Given the description of an element on the screen output the (x, y) to click on. 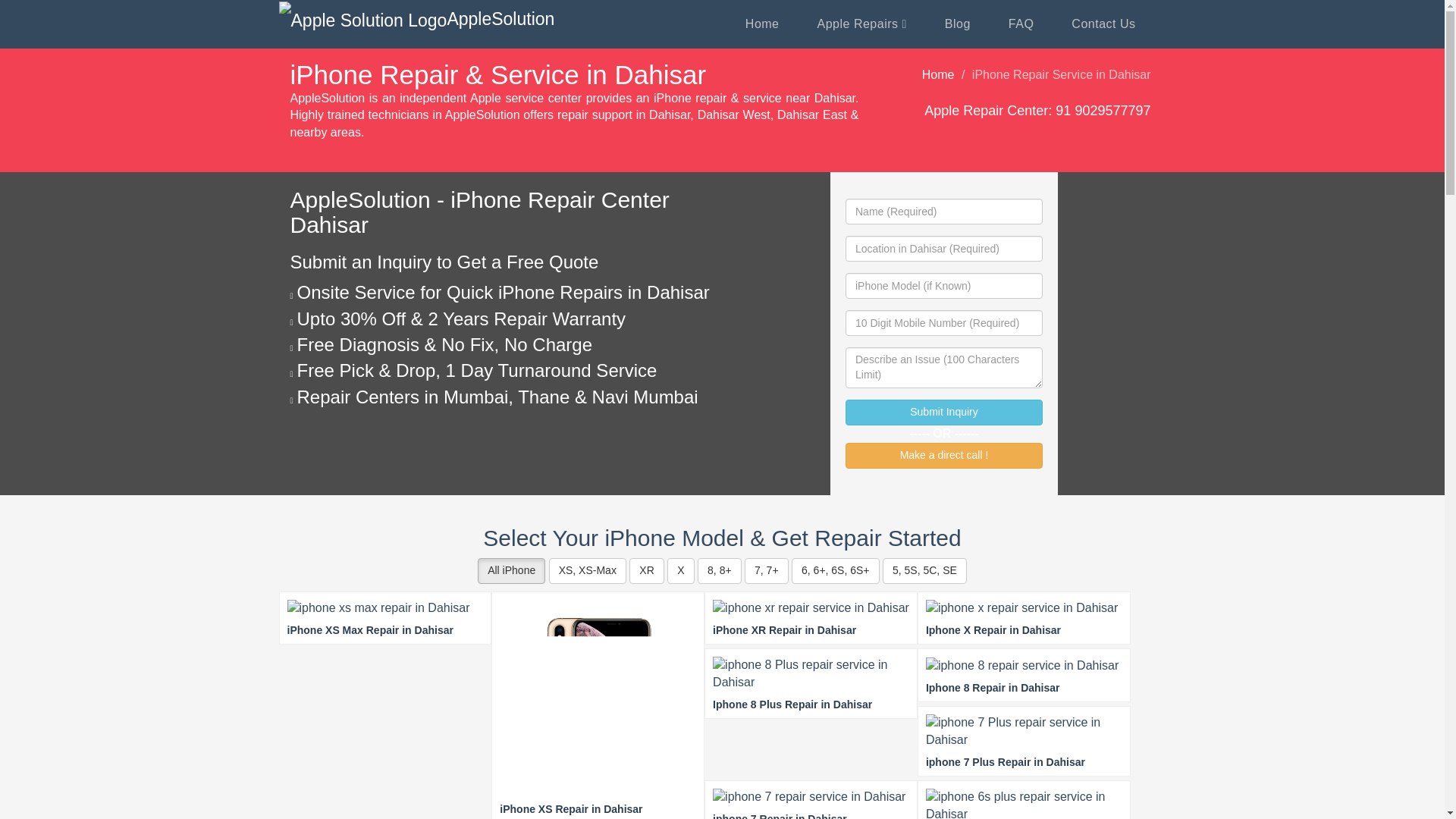
5, 5S, 5C, SE (924, 570)
Make a direct call ! (943, 455)
Blog (958, 24)
Make a direct call ! (943, 454)
X (680, 570)
Home (938, 74)
XS, XS-Max (587, 570)
AppleSolution (416, 19)
No Special Characters are allowed. (943, 248)
No Special Characters are allowed. (943, 285)
All iPhone (510, 570)
Submit Inquiry (943, 412)
No Special Characters are allowed. (943, 211)
FAQ (1021, 24)
Contact Us (1103, 24)
